Given the description of an element on the screen output the (x, y) to click on. 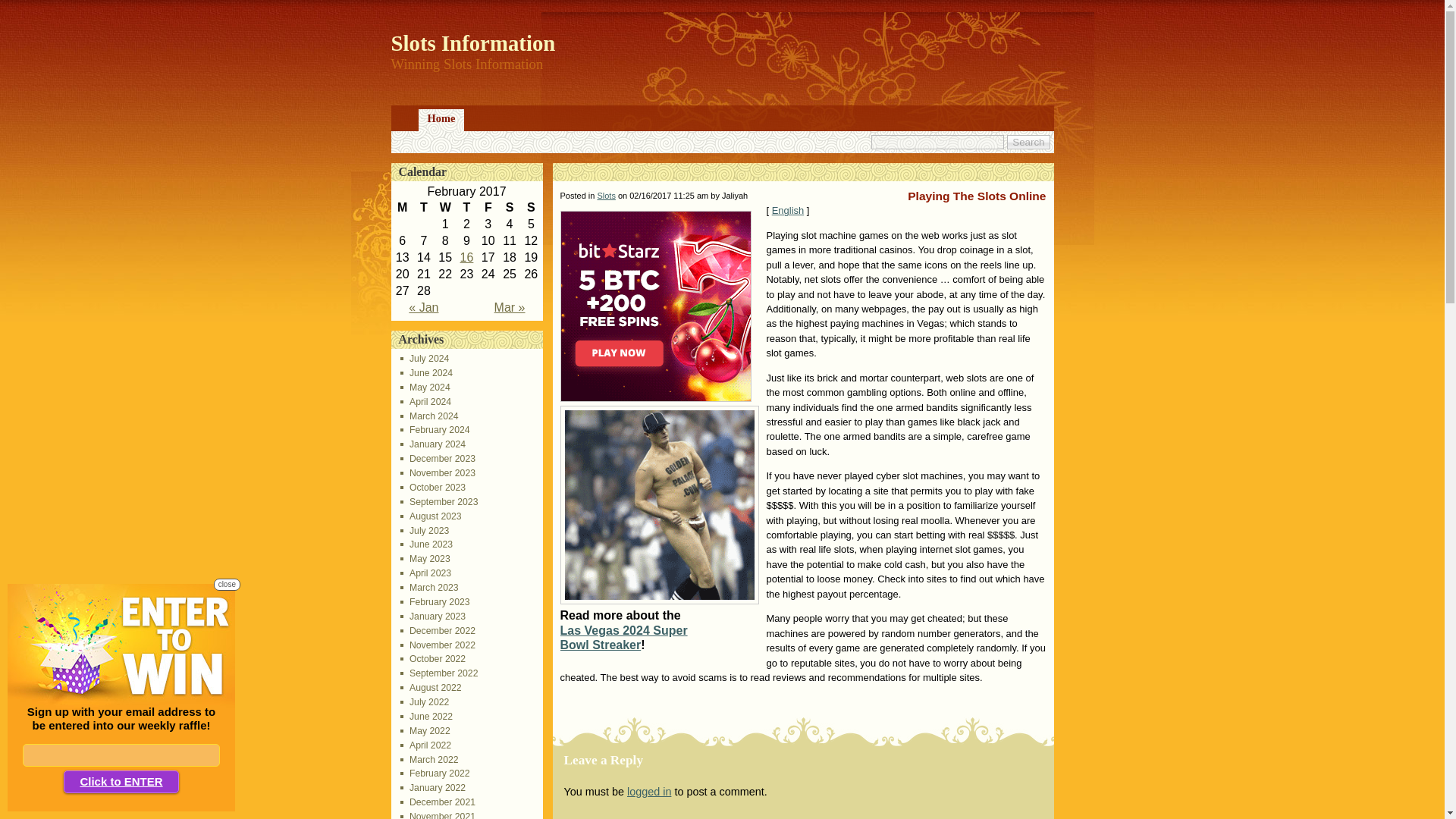
Home (441, 119)
November 2021 (438, 815)
16 (467, 256)
July 2022 (424, 701)
October 2022 (432, 658)
September 2023 (439, 501)
June 2024 (426, 372)
February 2024 (435, 429)
January 2024 (432, 443)
October 2023 (432, 487)
September 2022 (439, 673)
January 2023 (432, 615)
December 2023 (438, 458)
Monday (402, 207)
